Given the description of an element on the screen output the (x, y) to click on. 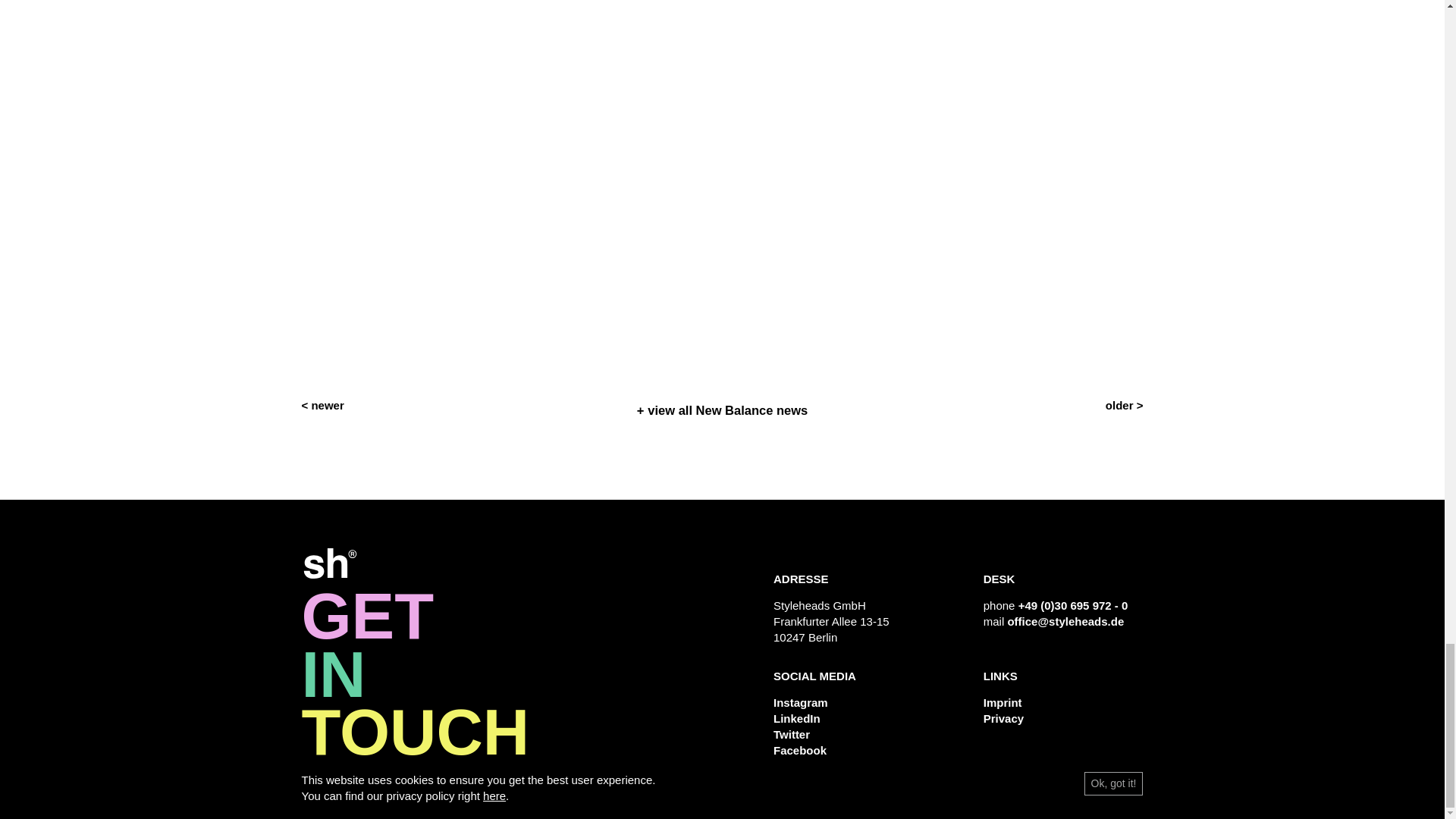
Privacy (1003, 717)
Imprint (1003, 702)
Facebook (800, 749)
Instagram (800, 702)
Imprint (1003, 702)
Privacy (1003, 717)
Twitter (791, 734)
view all New Balance news (722, 410)
LinkedIn (797, 717)
